Given the description of an element on the screen output the (x, y) to click on. 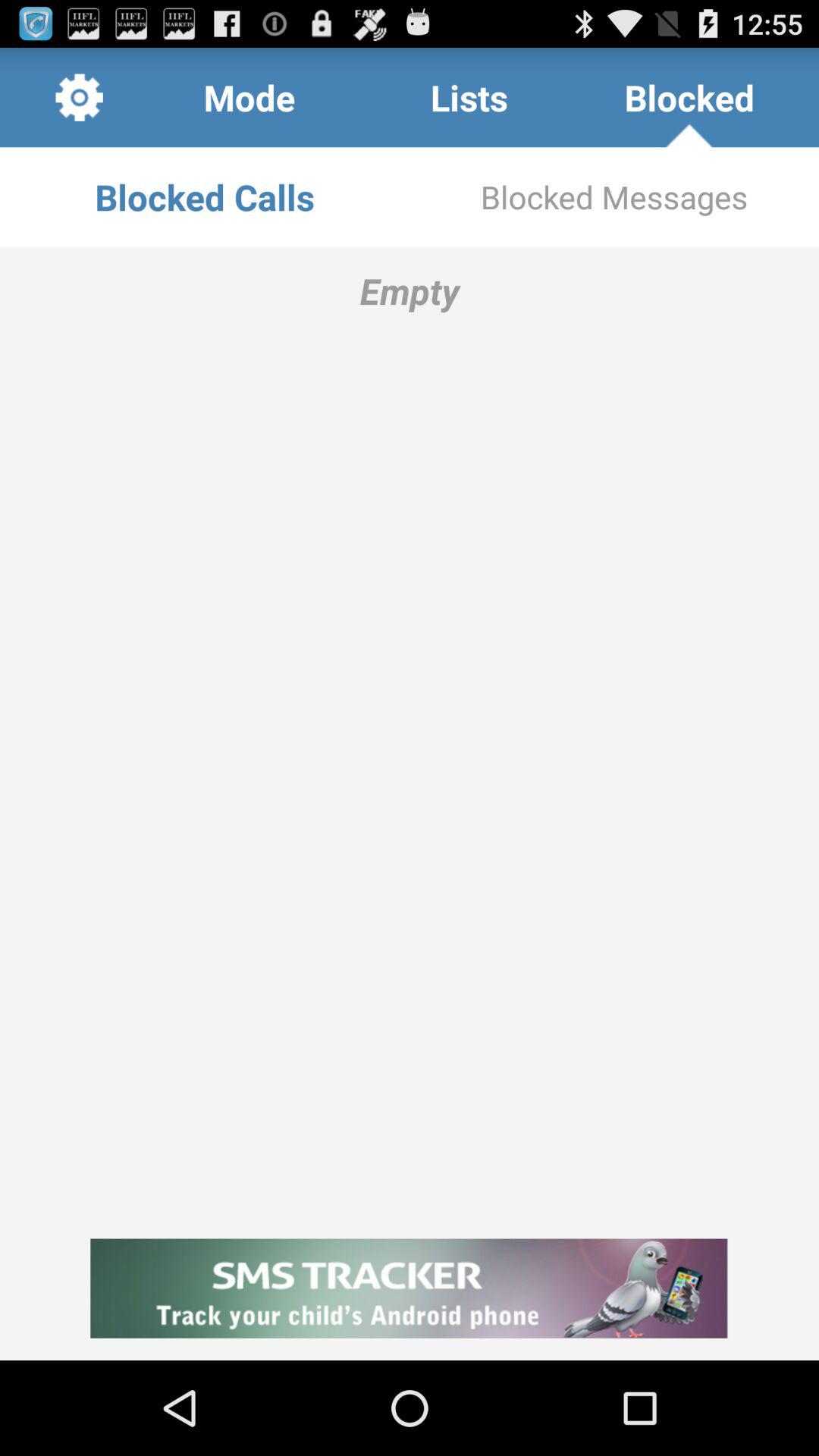
flip until blocked messages app (614, 196)
